Given the description of an element on the screen output the (x, y) to click on. 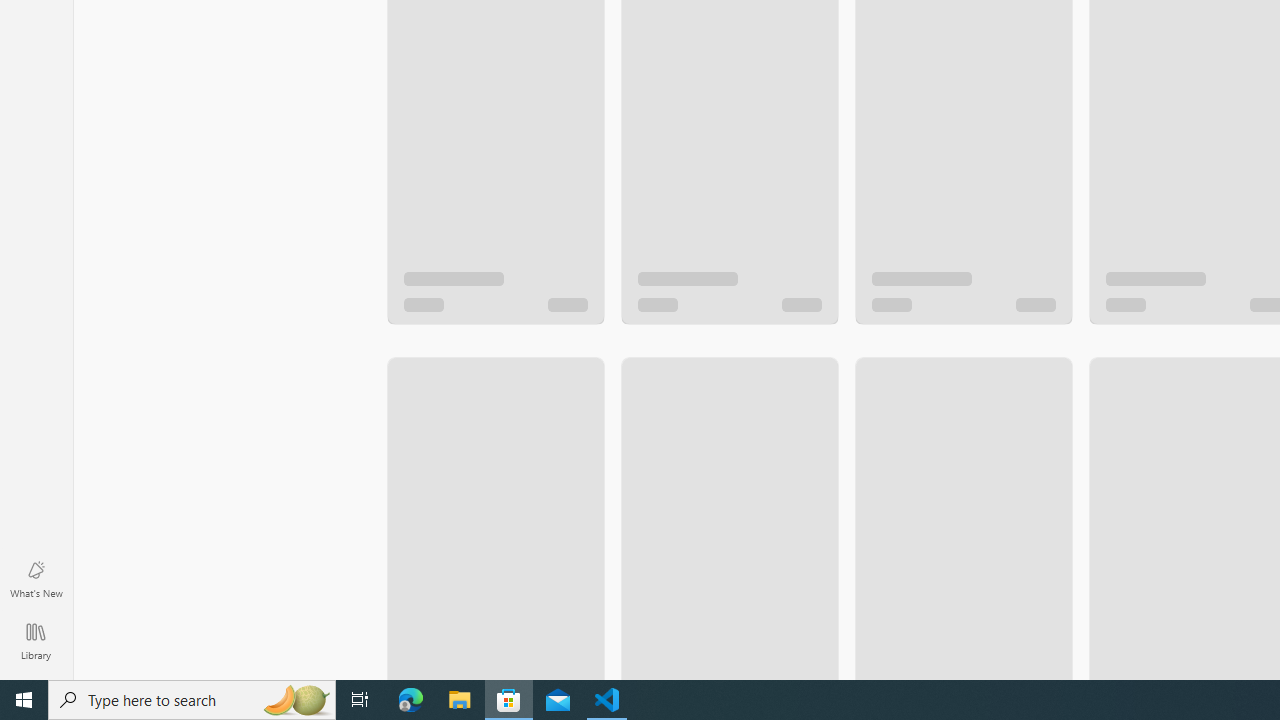
Library (35, 640)
What's New (35, 578)
